Given the description of an element on the screen output the (x, y) to click on. 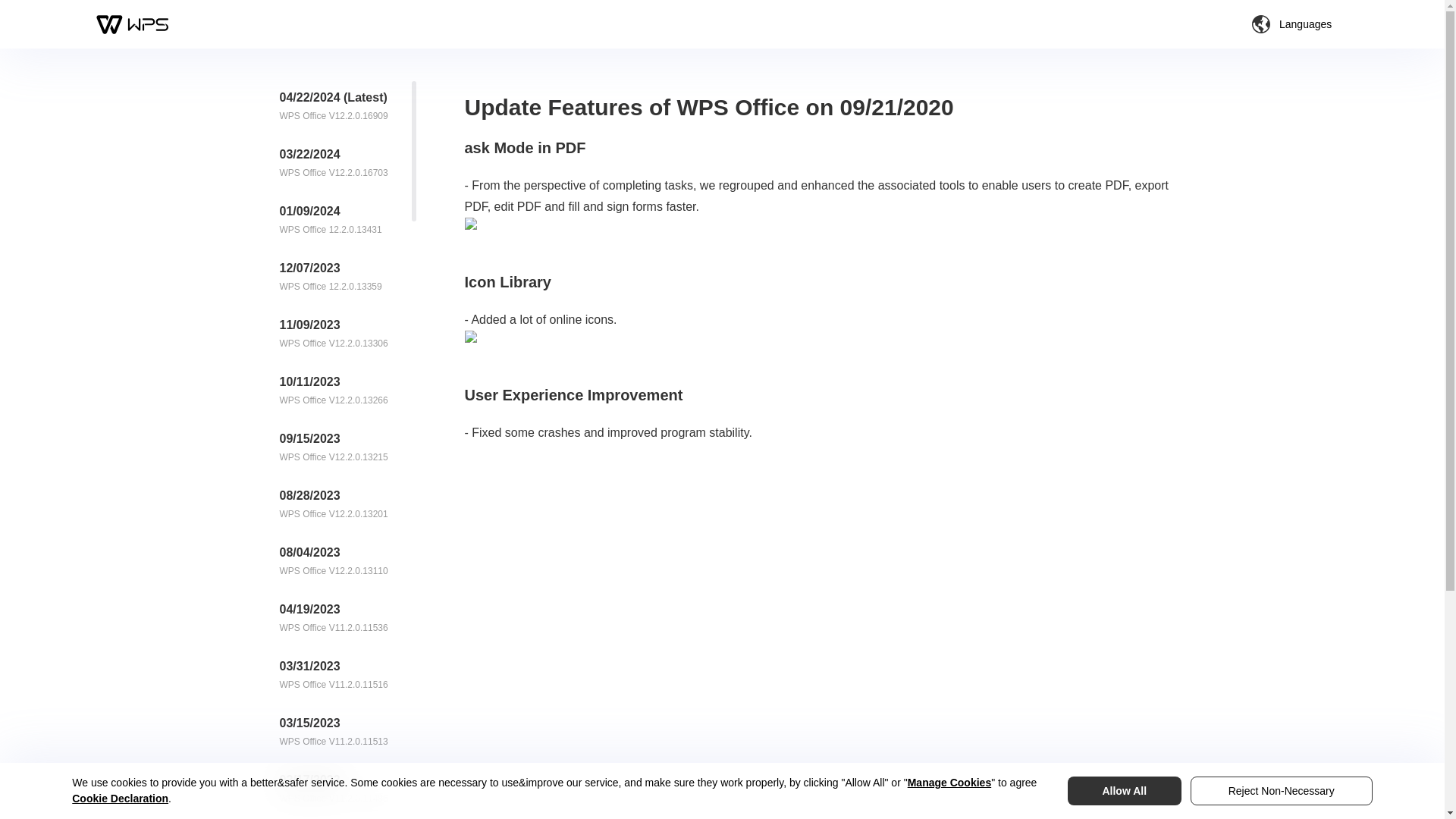
WPS (133, 24)
